Given the description of an element on the screen output the (x, y) to click on. 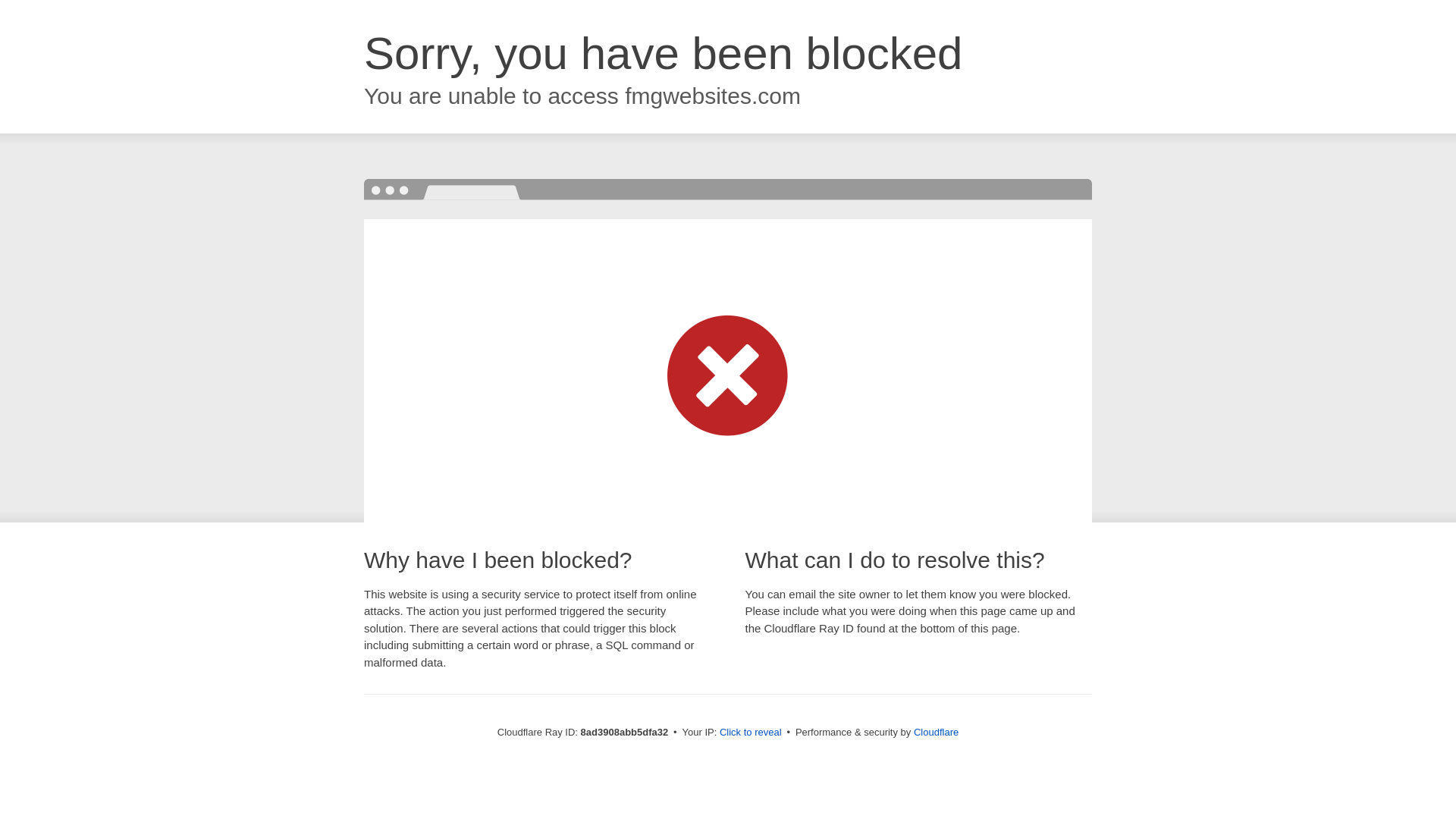
Click to reveal (750, 732)
Cloudflare (936, 731)
